Given the description of an element on the screen output the (x, y) to click on. 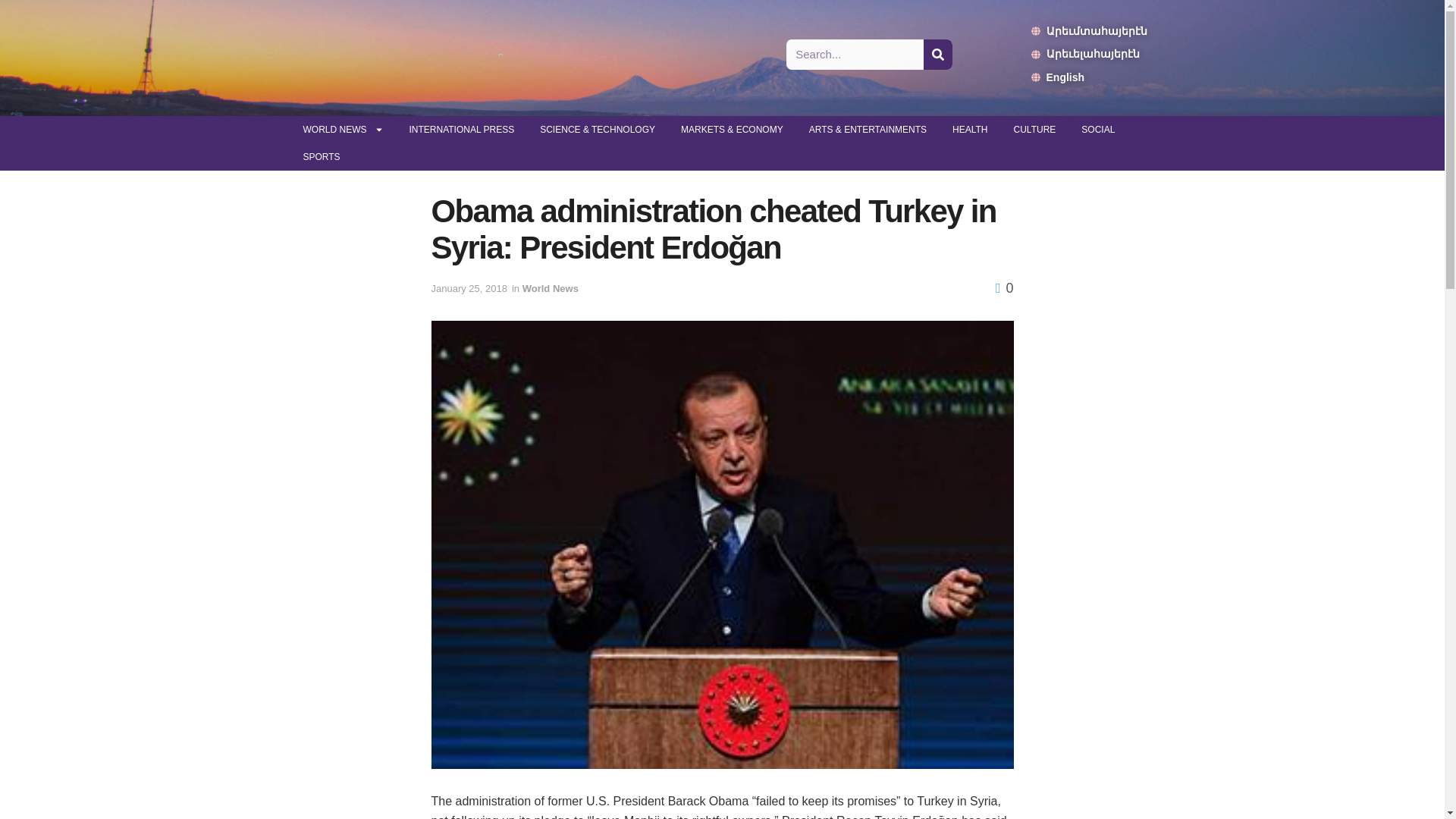
WORLD NEWS (342, 129)
English (1088, 76)
SPORTS (320, 156)
January 25, 2018 (468, 288)
World News (550, 288)
CULTURE (1034, 129)
HEALTH (969, 129)
SOCIAL (1097, 129)
0 (1004, 287)
INTERNATIONAL PRESS (461, 129)
